Given the description of an element on the screen output the (x, y) to click on. 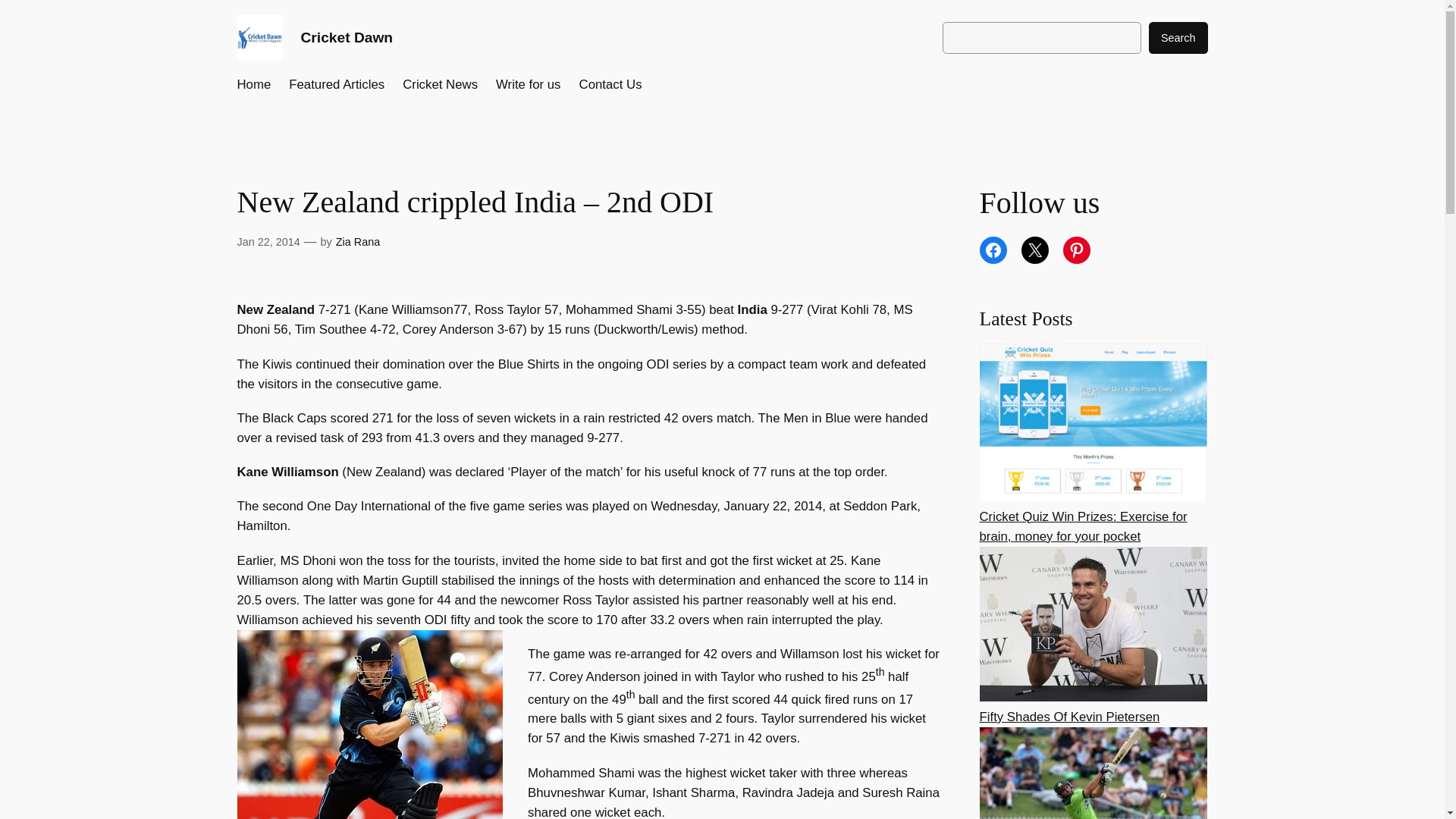
Zia Rana (358, 241)
Cricket Dawn (346, 37)
Home (252, 85)
Cricket News (440, 85)
Write for us (528, 85)
X (1035, 249)
Facebook (993, 249)
Contact Us (610, 85)
Search (1178, 38)
Pinterest (1076, 249)
